Given the description of an element on the screen output the (x, y) to click on. 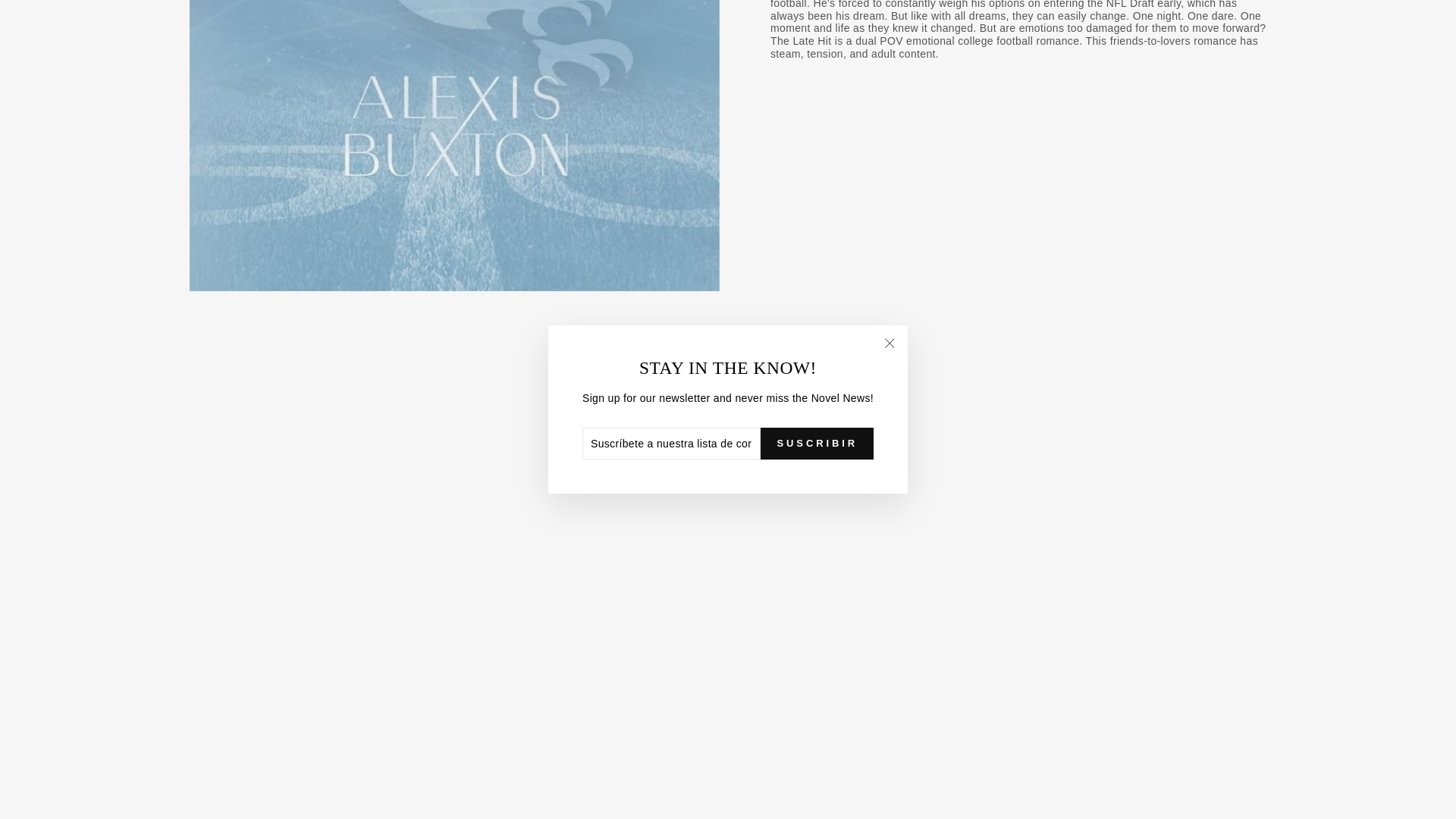
Tuitear en Twitter (728, 354)
